Given the description of an element on the screen output the (x, y) to click on. 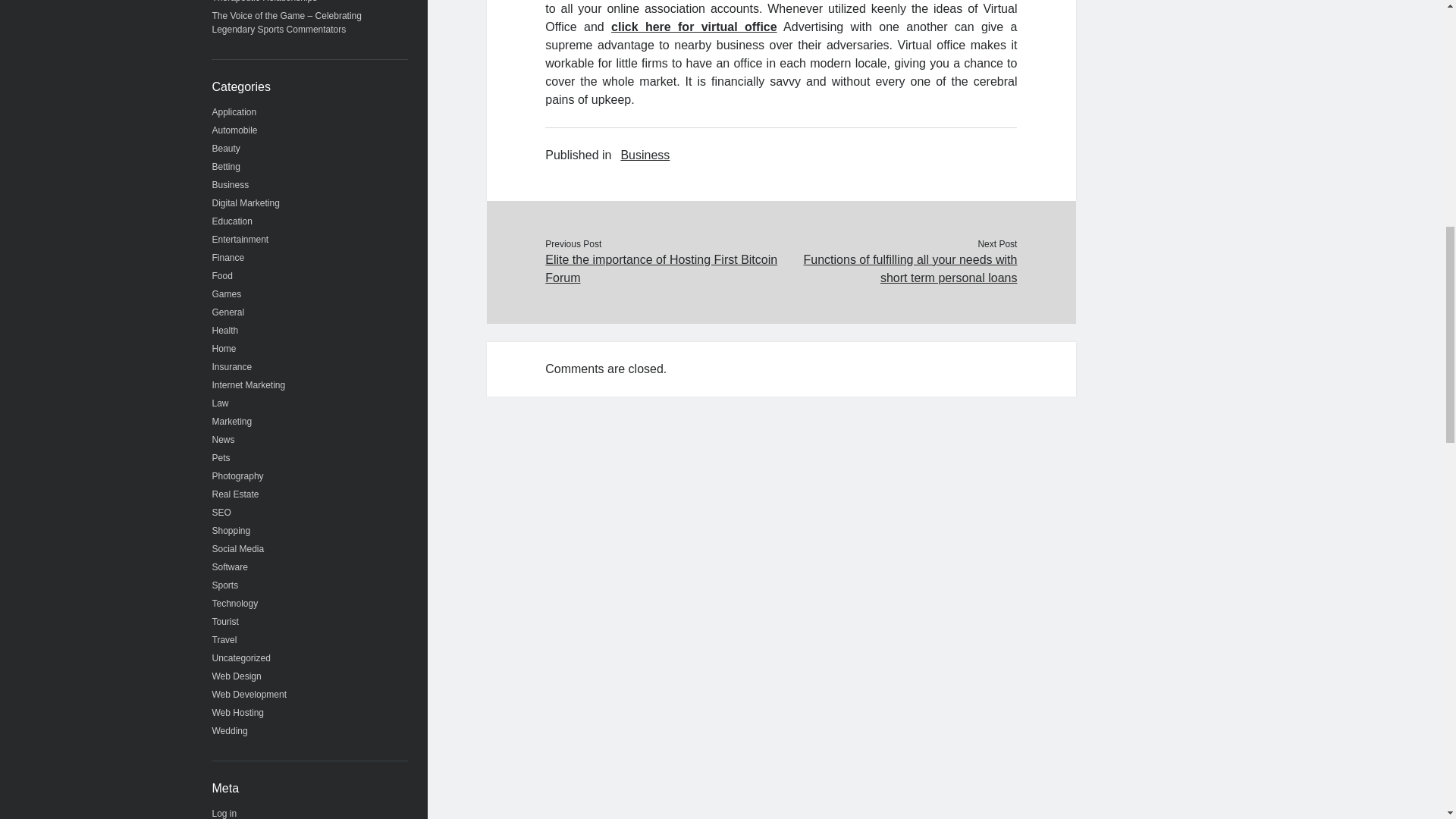
Pets (221, 457)
Betting (226, 166)
Technology (235, 603)
Entertainment (240, 239)
Social Media (238, 548)
Home (223, 348)
Beauty (226, 148)
Shopping (231, 530)
SEO (221, 511)
Real Estate (235, 493)
